Given the description of an element on the screen output the (x, y) to click on. 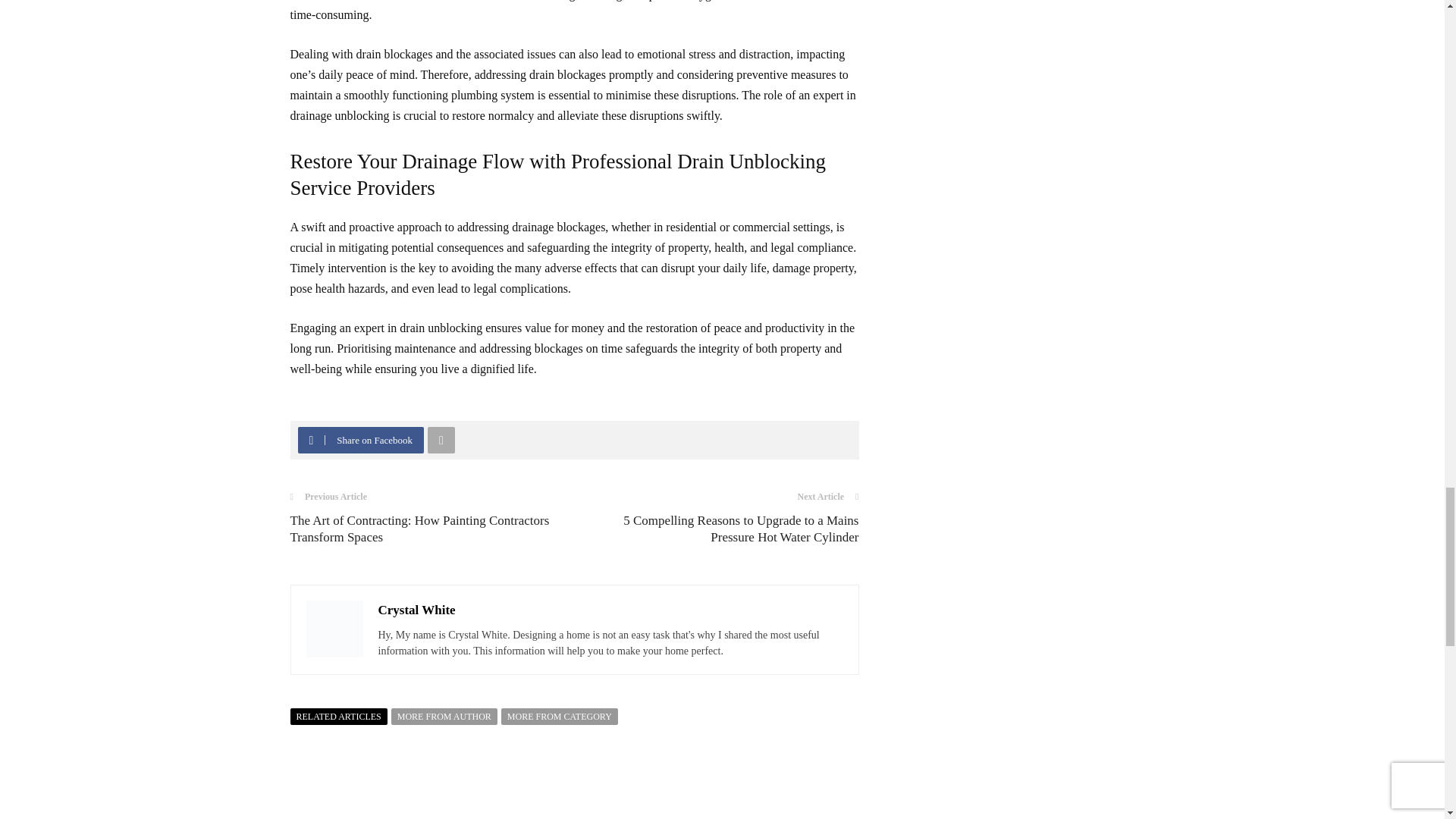
RELATED ARTICLES (338, 716)
Crystal White (415, 609)
MORE FROM CATEGORY (558, 716)
Share on Facebook (361, 439)
MORE FROM AUTHOR (444, 716)
